Given the description of an element on the screen output the (x, y) to click on. 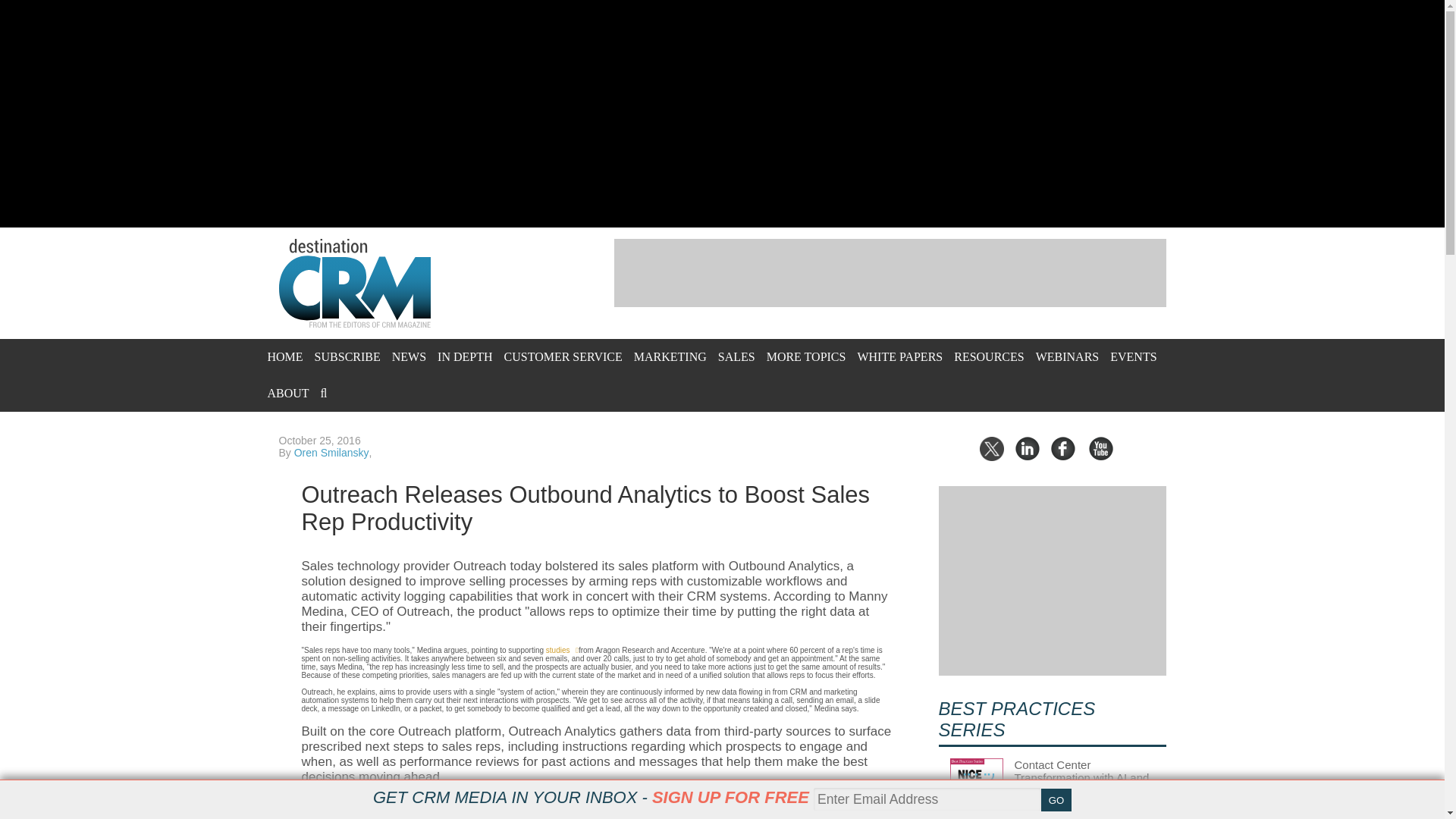
SALES (736, 357)
CUSTOMER SERVICE (563, 357)
WHITE PAPERS (899, 357)
Customer Service (563, 357)
HOME (284, 357)
GO (1056, 799)
MARKETING (669, 357)
IN DEPTH (465, 357)
GET CRM MEDIA IN YOUR INBOX - SIGN UP FOR FREE (590, 797)
RESOURCES (988, 357)
